Given the description of an element on the screen output the (x, y) to click on. 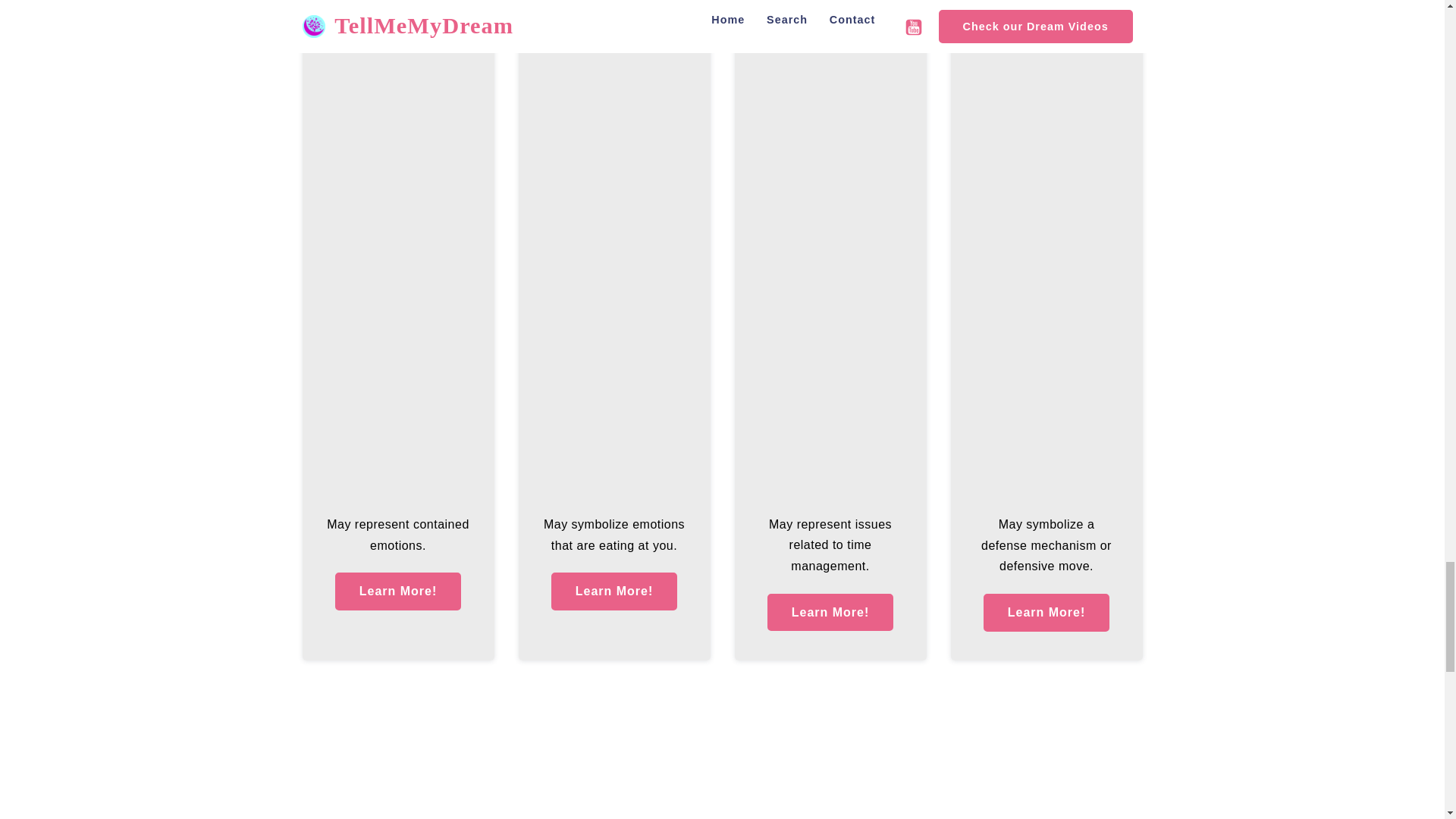
Learn More! (614, 591)
Learn More! (1046, 612)
Learn More! (830, 612)
Learn More! (397, 591)
